Given the description of an element on the screen output the (x, y) to click on. 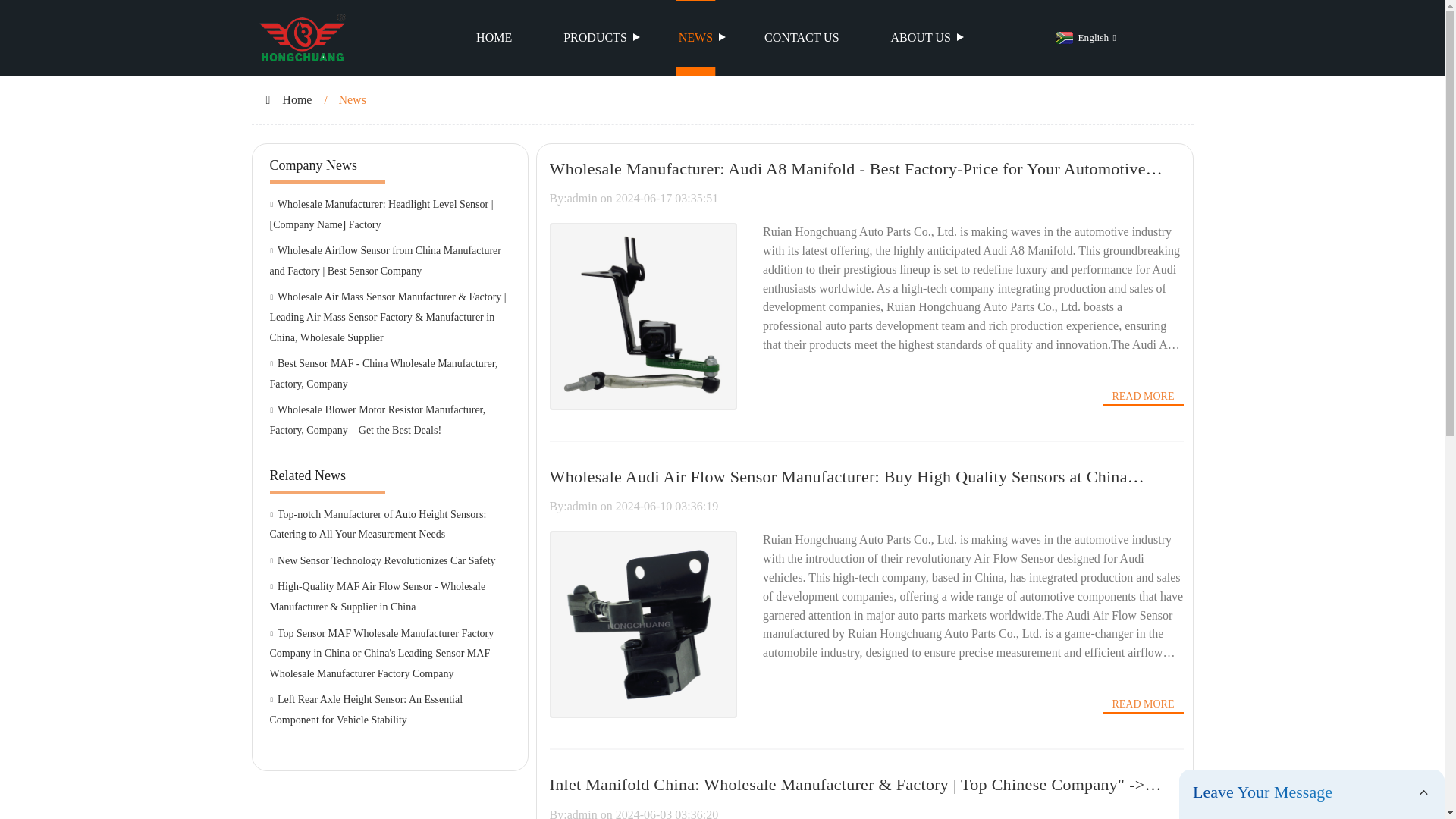
English (1083, 37)
Home (296, 99)
CONTACT US (801, 38)
English (1083, 37)
READ MORE (1142, 396)
New Sensor Technology Revolutionizes Car Safety (390, 561)
PRODUCTS (594, 38)
